Given the description of an element on the screen output the (x, y) to click on. 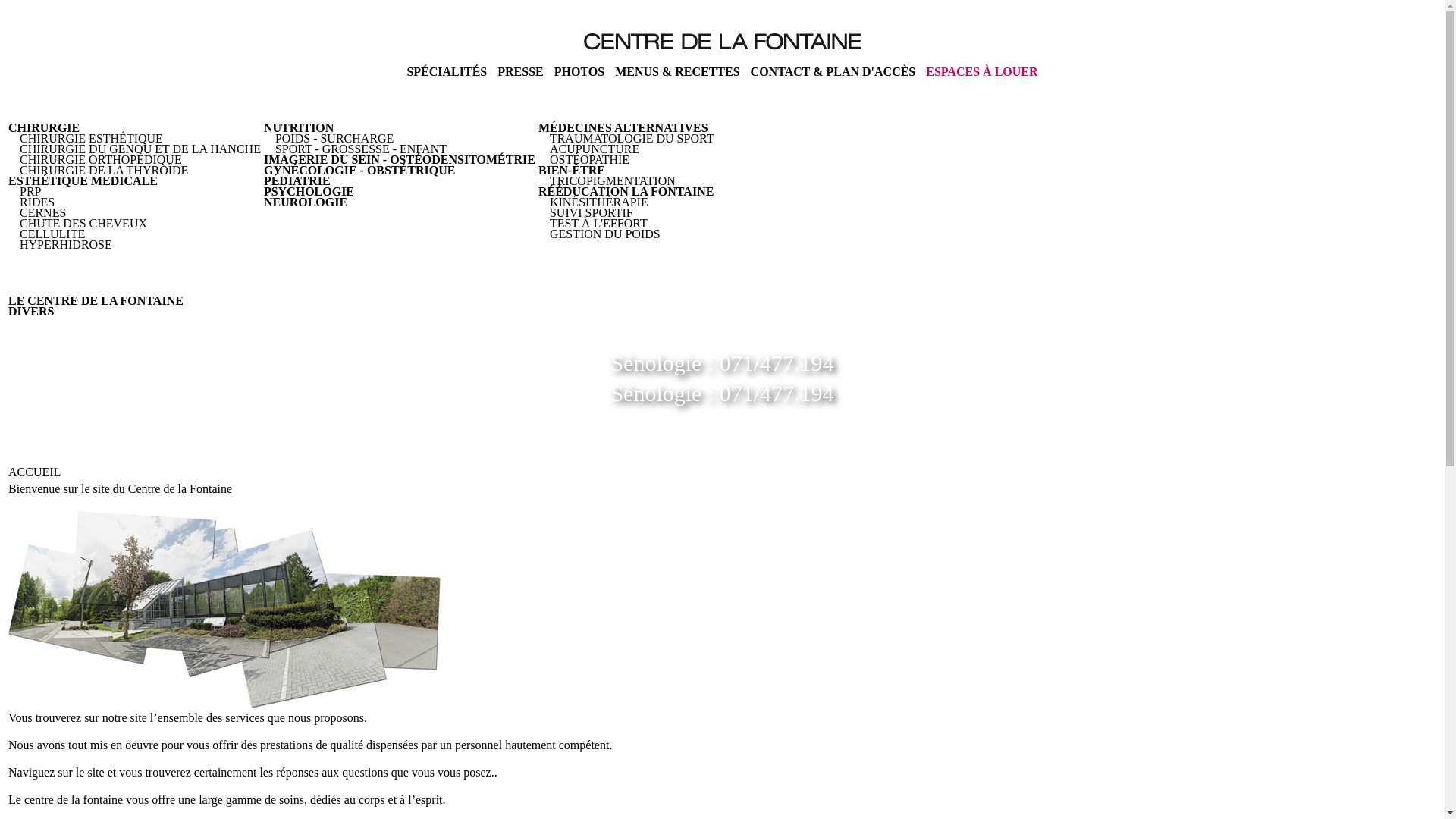
CELLULITE Element type: text (51, 233)
DIVERS Element type: text (30, 310)
LE CENTRE DE LA FONTAINE Element type: text (95, 300)
CERNES Element type: text (42, 212)
CHUTE DES CHEVEUX Element type: text (83, 222)
SPORT - GROSSESSE - ENFANT Element type: text (360, 148)
PSYCHOLOGIE Element type: text (308, 191)
GESTION DU POIDS Element type: text (604, 233)
TRAUMATOLOGIE DU SPORT Element type: text (631, 137)
TRICOPIGMENTATION Element type: text (612, 180)
ACUPUNCTURE Element type: text (594, 148)
MENUS & RECETTES Element type: text (677, 71)
PHOTOS Element type: text (579, 71)
PRESSE Element type: text (519, 71)
CHIRURGIE DU GENOU ET DE LA HANCHE Element type: text (139, 148)
RIDES Element type: text (36, 201)
PRP Element type: text (29, 191)
SUIVI SPORTIF Element type: text (591, 212)
POIDS - SURCHARGE Element type: text (334, 137)
NEUROLOGIE Element type: text (305, 201)
HYPERHIDROSE Element type: text (65, 244)
